Given the description of an element on the screen output the (x, y) to click on. 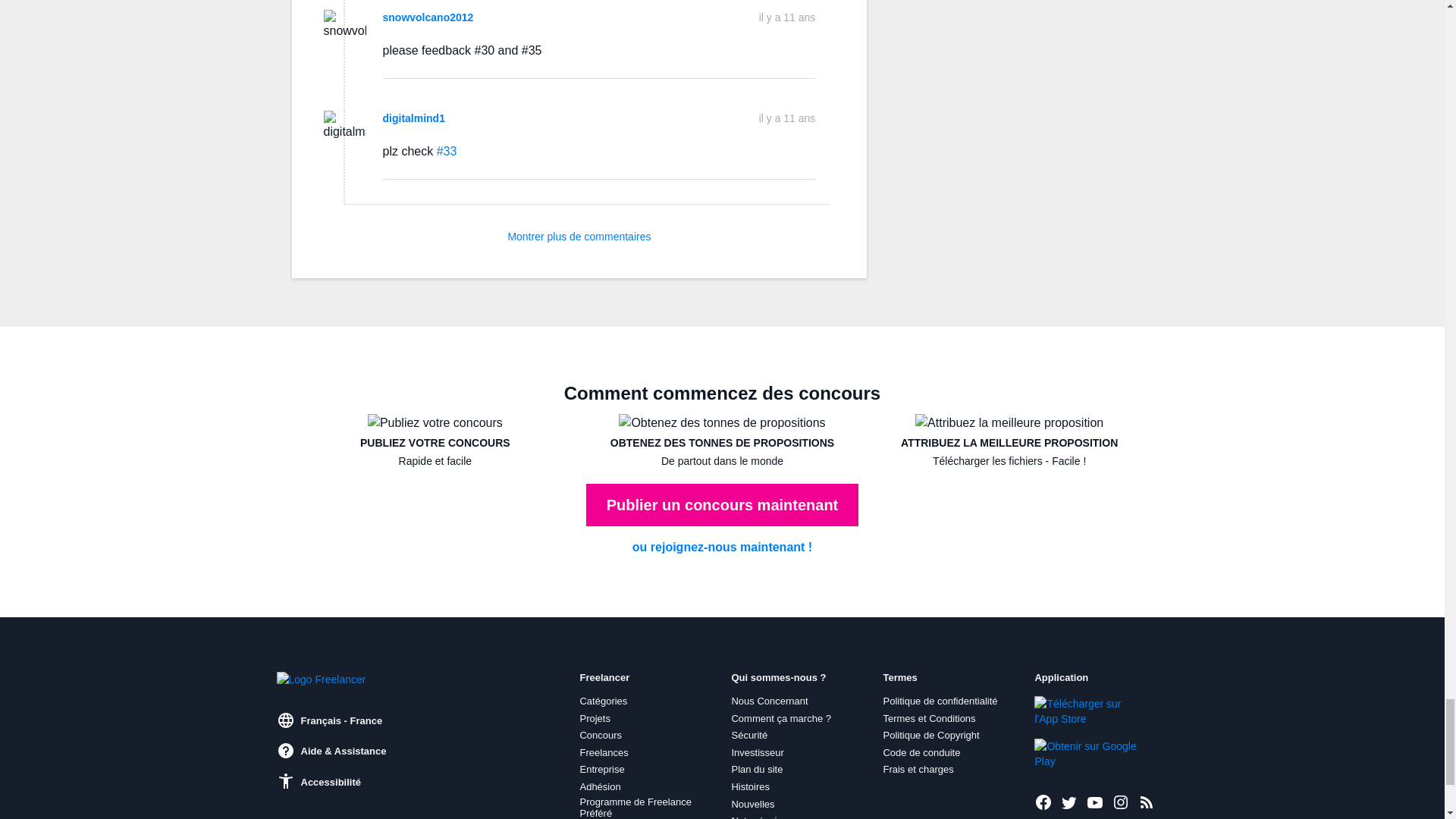
Derniers projets (1146, 802)
Freelancer sur Facebook (1042, 802)
L'obtenir sur Google Play (1085, 753)
Freelancer sur Youtube (1094, 802)
Freelancer sur Twitter (1068, 802)
Freelancer sur Instagram (1120, 802)
